Given the description of an element on the screen output the (x, y) to click on. 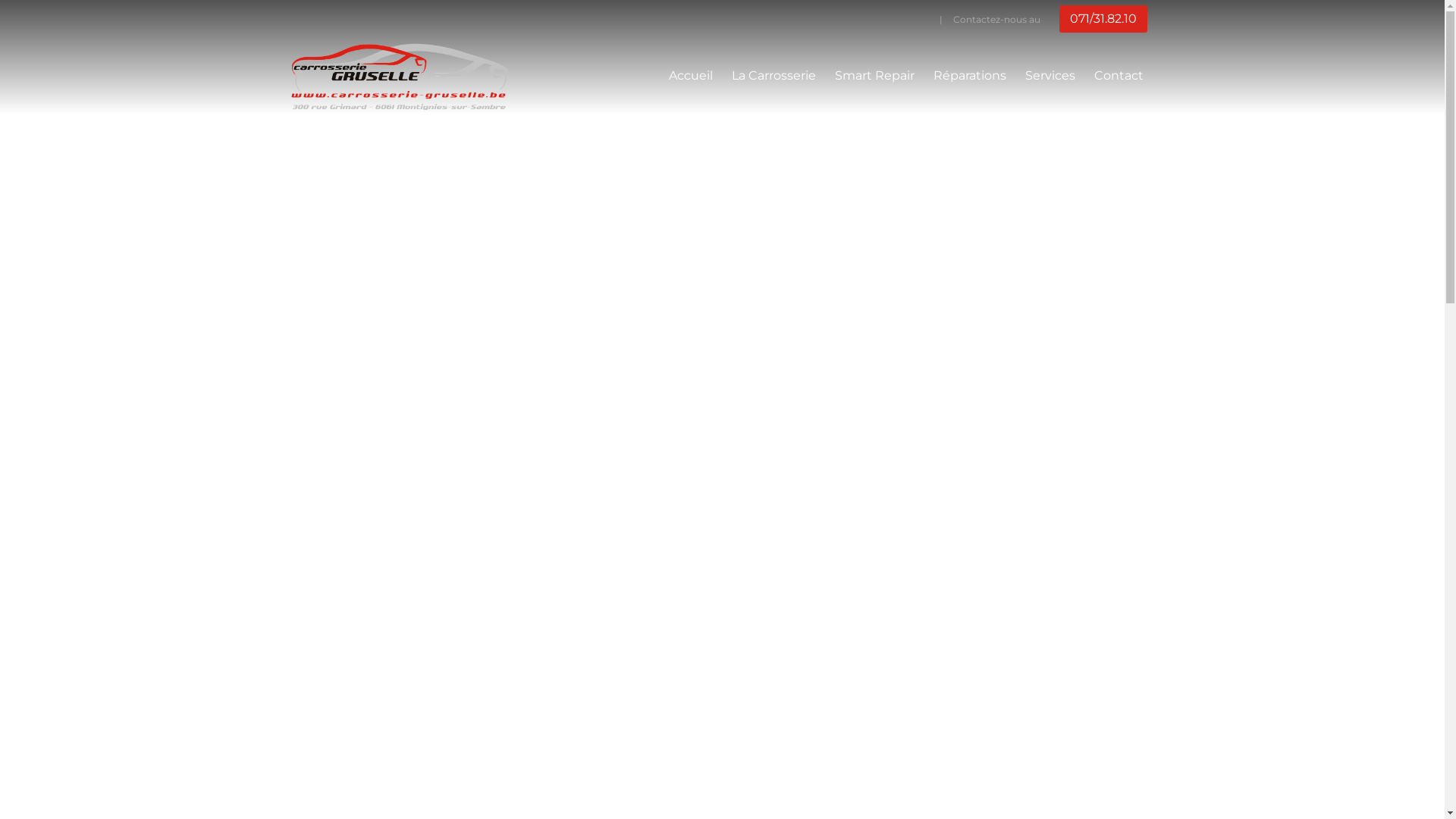
Accueil Element type: text (690, 75)
La Carrosserie Element type: text (773, 75)
Contact Element type: text (1117, 75)
071/31.82.10 Element type: text (1102, 18)
Services Element type: text (1050, 75)
Smart Repair Element type: text (873, 75)
